Given the description of an element on the screen output the (x, y) to click on. 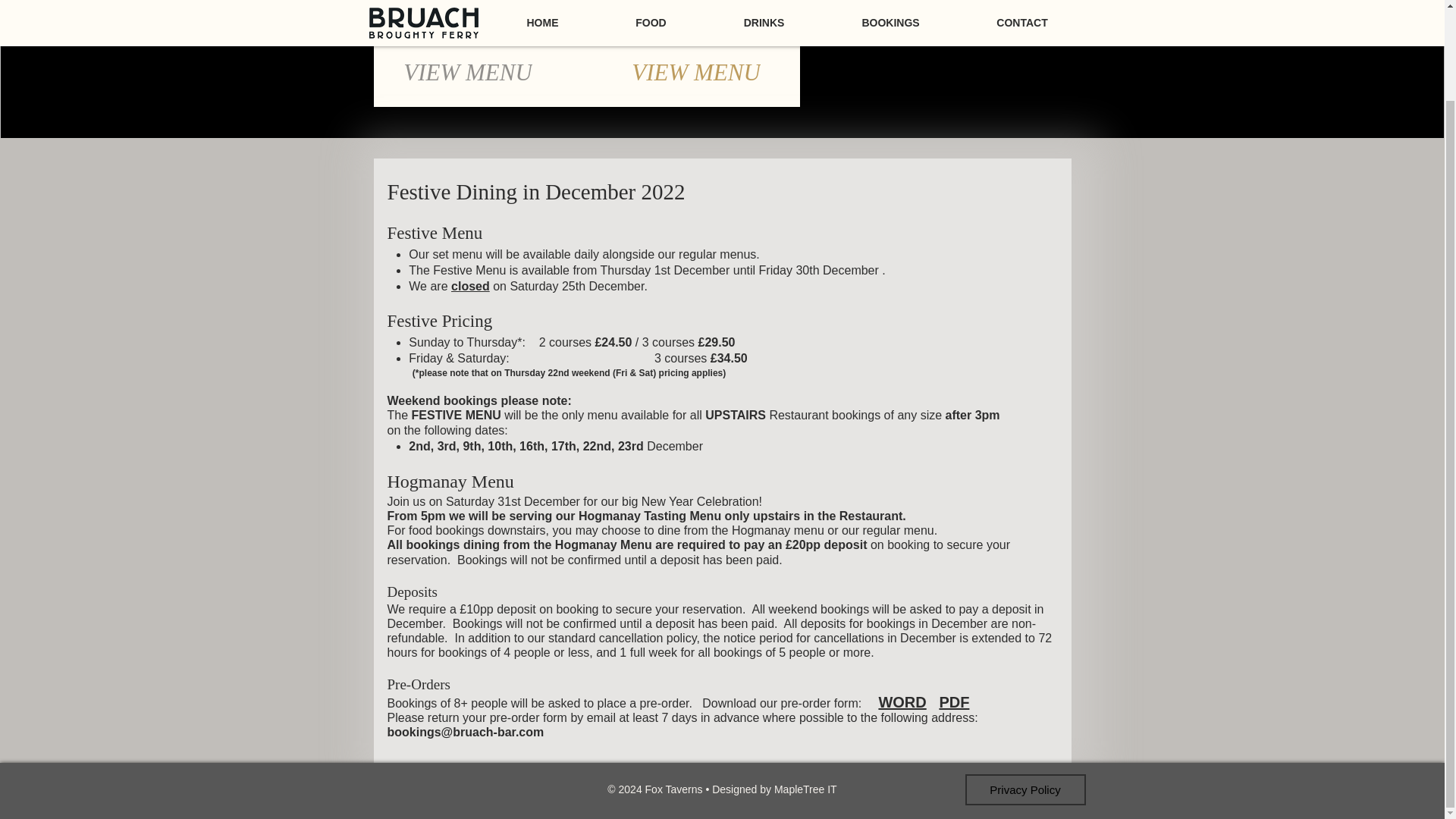
Privacy Policy (1023, 789)
Festive Menu (477, 21)
WORD (901, 701)
VIEW MENU (695, 72)
PDF (954, 701)
VIEW MENU (467, 72)
Hogmanay  (696, 21)
